Given the description of an element on the screen output the (x, y) to click on. 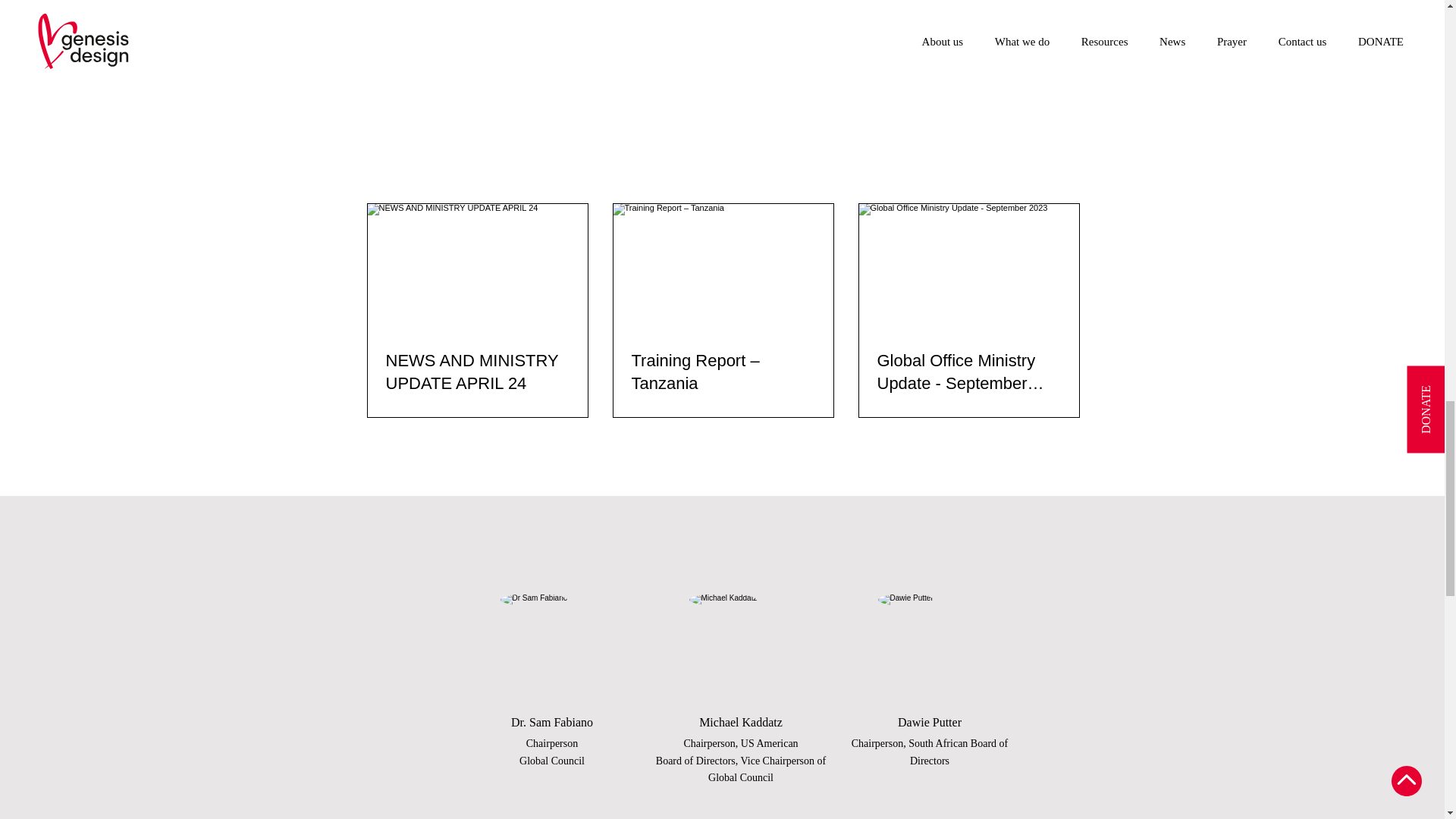
NEWS AND MINISTRY UPDATE APRIL 24 (477, 372)
Michael Kaddatz (741, 646)
Dr Sam Fabiano (553, 646)
Global Office Ministry Update - September 2023 (967, 372)
Dawie Putter (930, 646)
